Given the description of an element on the screen output the (x, y) to click on. 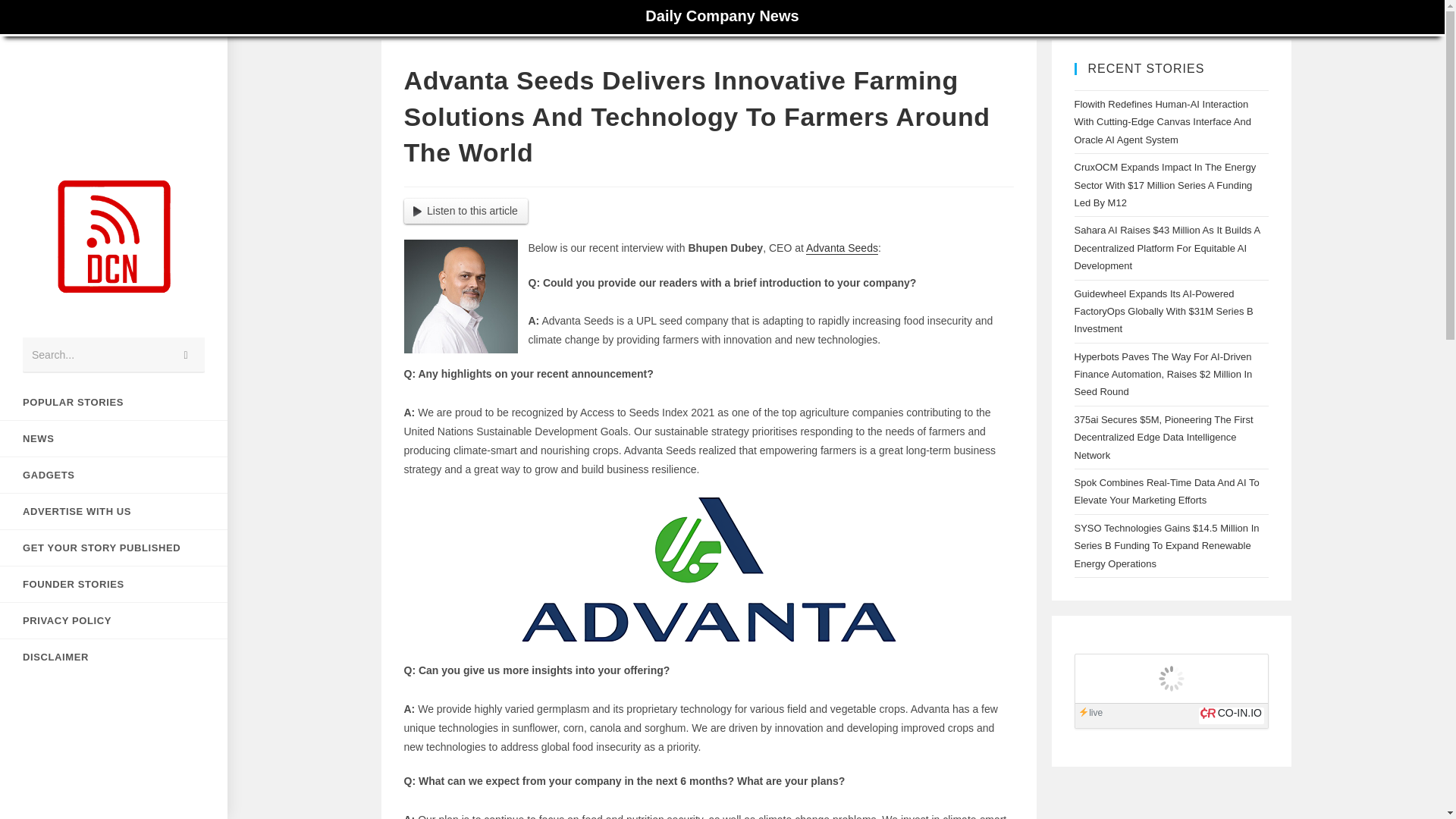
GADGETS (113, 475)
NEWS (113, 438)
PRIVACY POLICY (113, 620)
Submit search (186, 355)
POPULAR STORIES (113, 402)
Advanta Seeds (841, 247)
FOUNDER STORIES (113, 583)
GET YOUR STORY PUBLISHED (113, 547)
DISCLAIMER (113, 656)
